Given the description of an element on the screen output the (x, y) to click on. 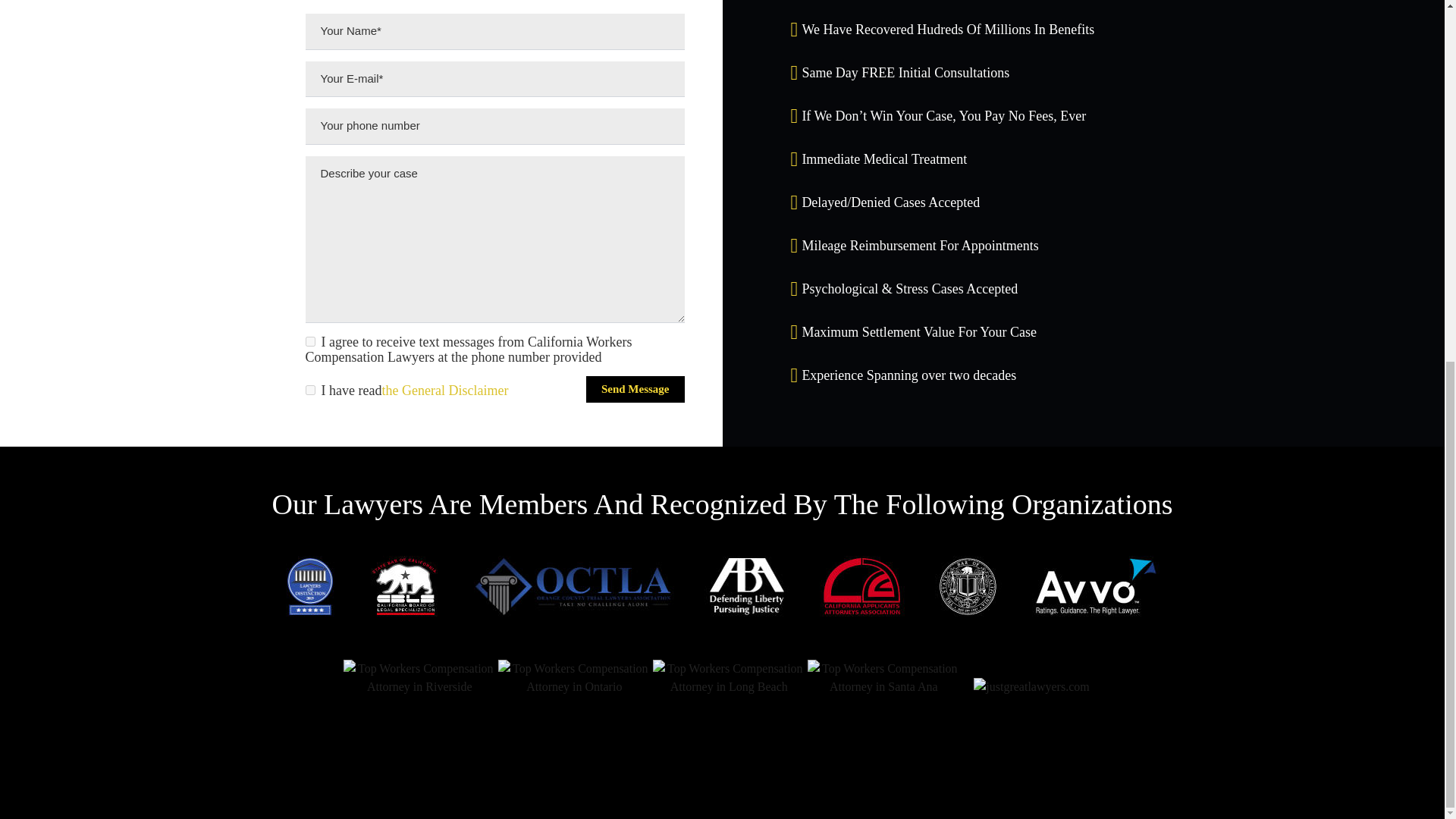
I have read (309, 389)
Send Message (635, 388)
General Disclaimer (444, 389)
I agree (309, 341)
